Given the description of an element on the screen output the (x, y) to click on. 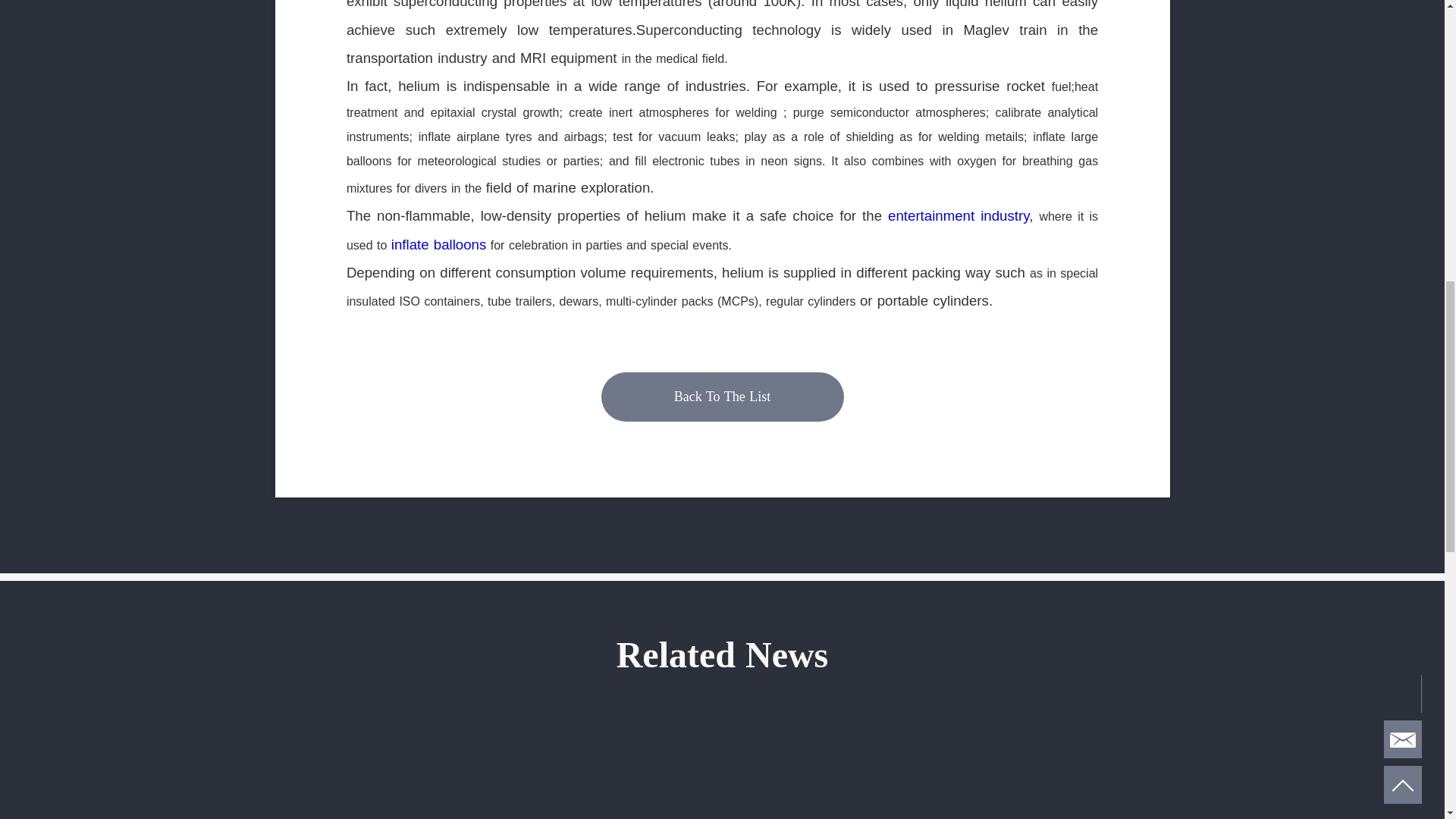
Back To The List (721, 396)
entertainment industry (958, 215)
inflate balloons (438, 244)
